Given the description of an element on the screen output the (x, y) to click on. 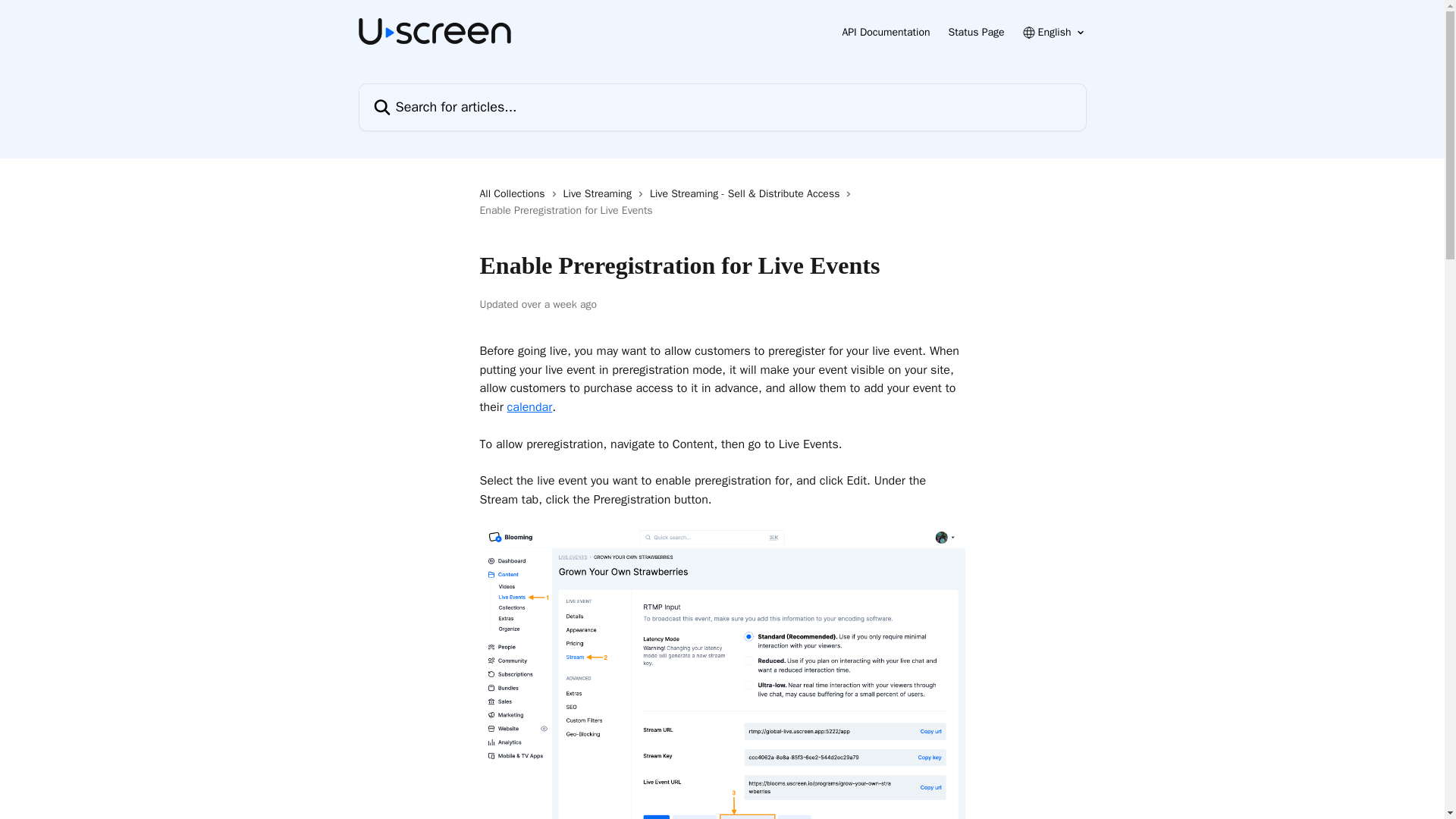
Live Streaming (600, 193)
API Documentation (885, 32)
All Collections (514, 193)
Status Page (975, 32)
calendar (529, 406)
